Given the description of an element on the screen output the (x, y) to click on. 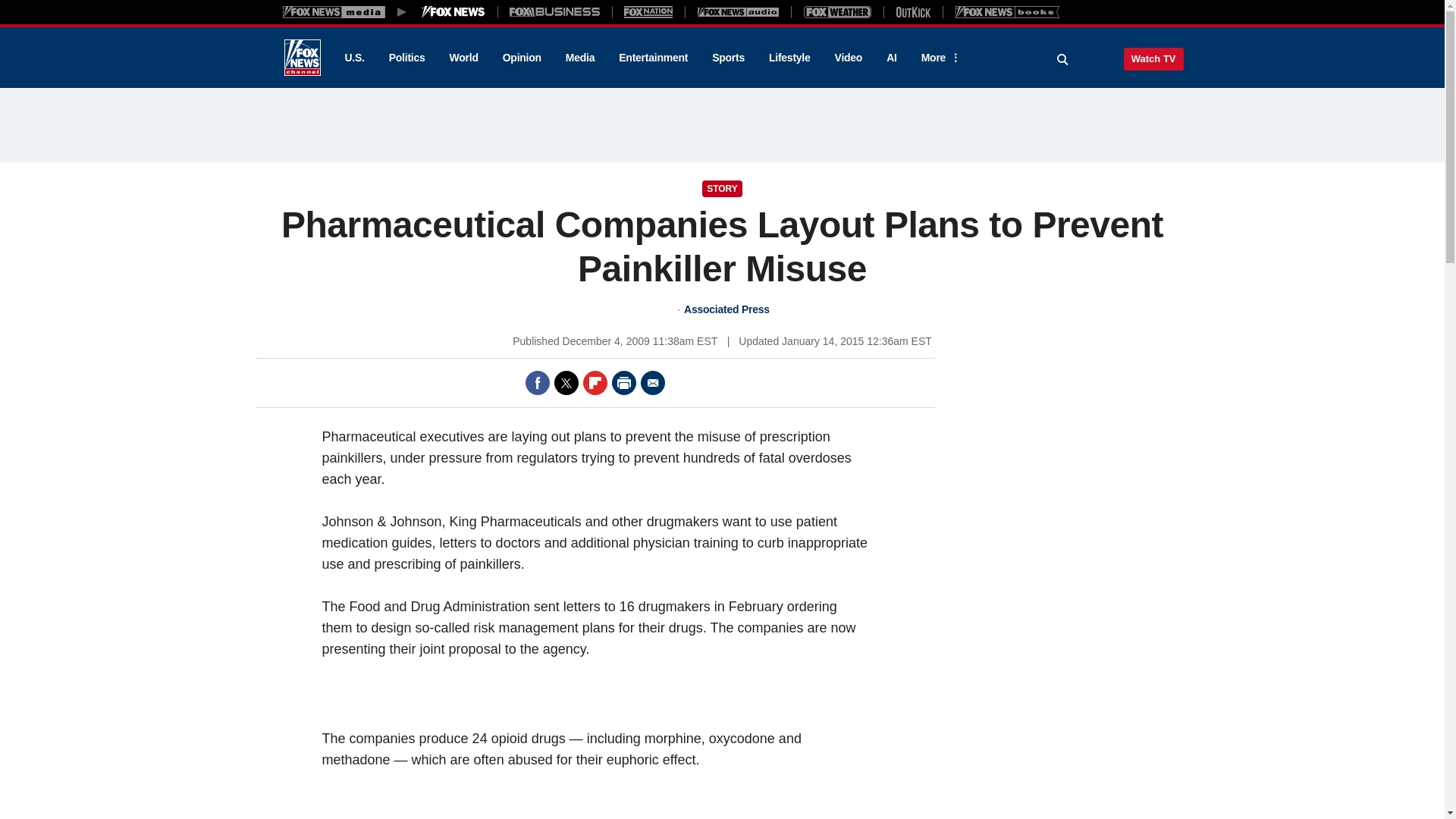
Media (580, 57)
Books (1007, 11)
Fox Weather (836, 11)
Fox News Media (453, 11)
AI (891, 57)
Politics (407, 57)
Fox Business (554, 11)
World (464, 57)
Fox Nation (648, 11)
Sports (728, 57)
More (938, 57)
Lifestyle (789, 57)
Fox News Audio (737, 11)
Fox News (301, 57)
Opinion (521, 57)
